Given the description of an element on the screen output the (x, y) to click on. 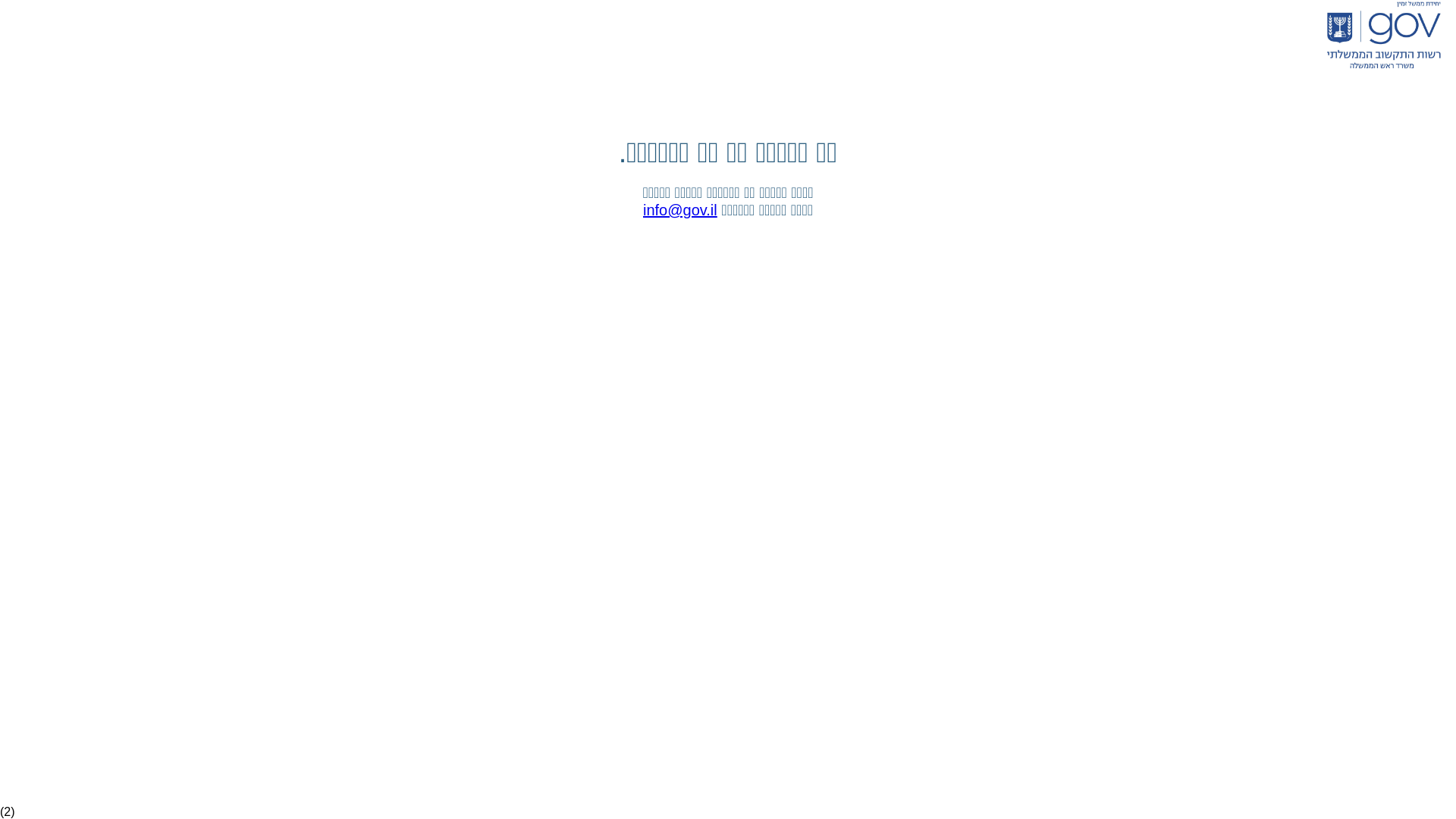
info@gov.il Element type: text (680, 209)
